Given the description of an element on the screen output the (x, y) to click on. 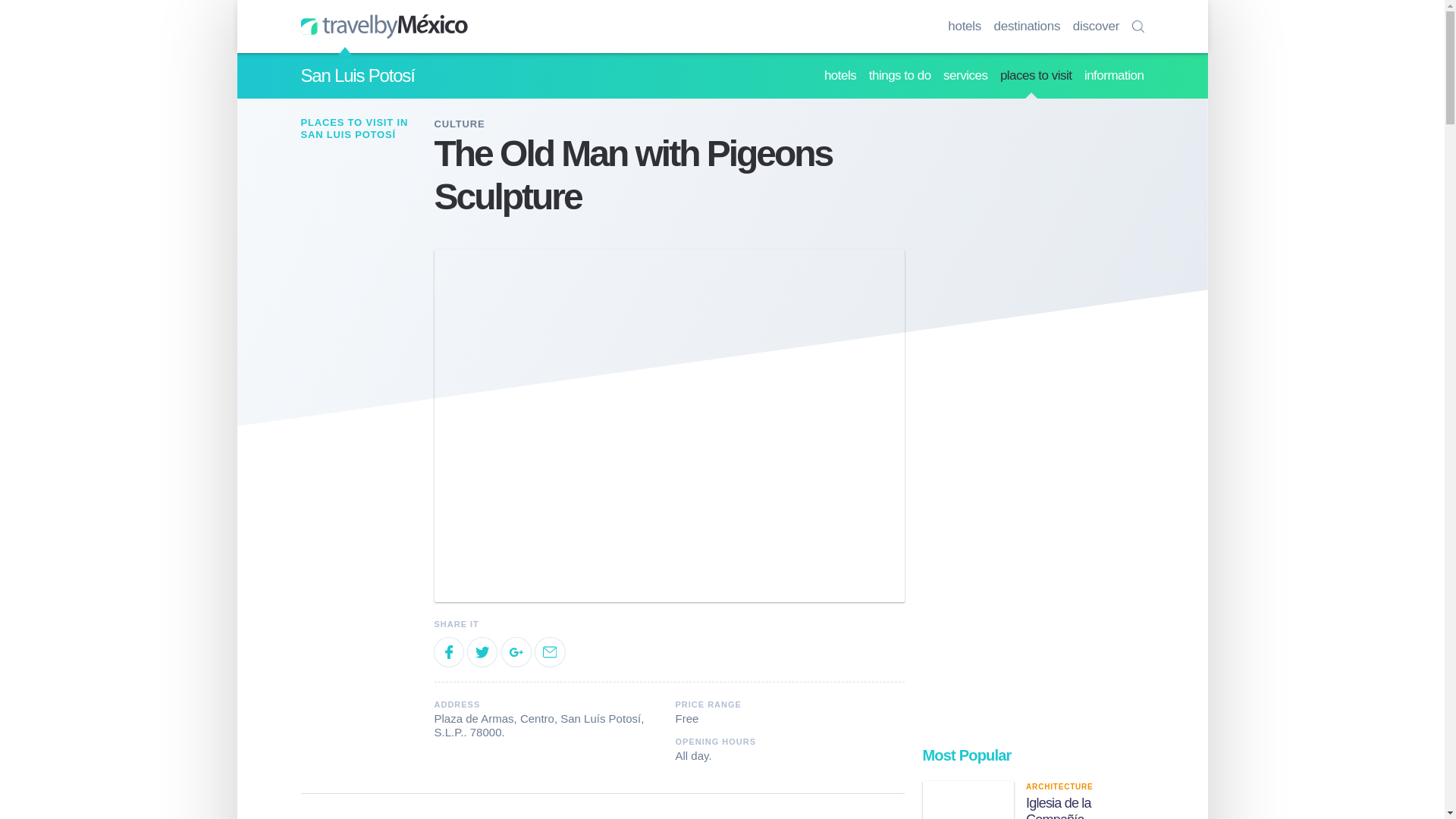
Email (549, 652)
things to do (900, 75)
Twitter (481, 652)
Facebook (448, 652)
destinations (1027, 26)
places to visit (1035, 75)
services (965, 75)
